Given the description of an element on the screen output the (x, y) to click on. 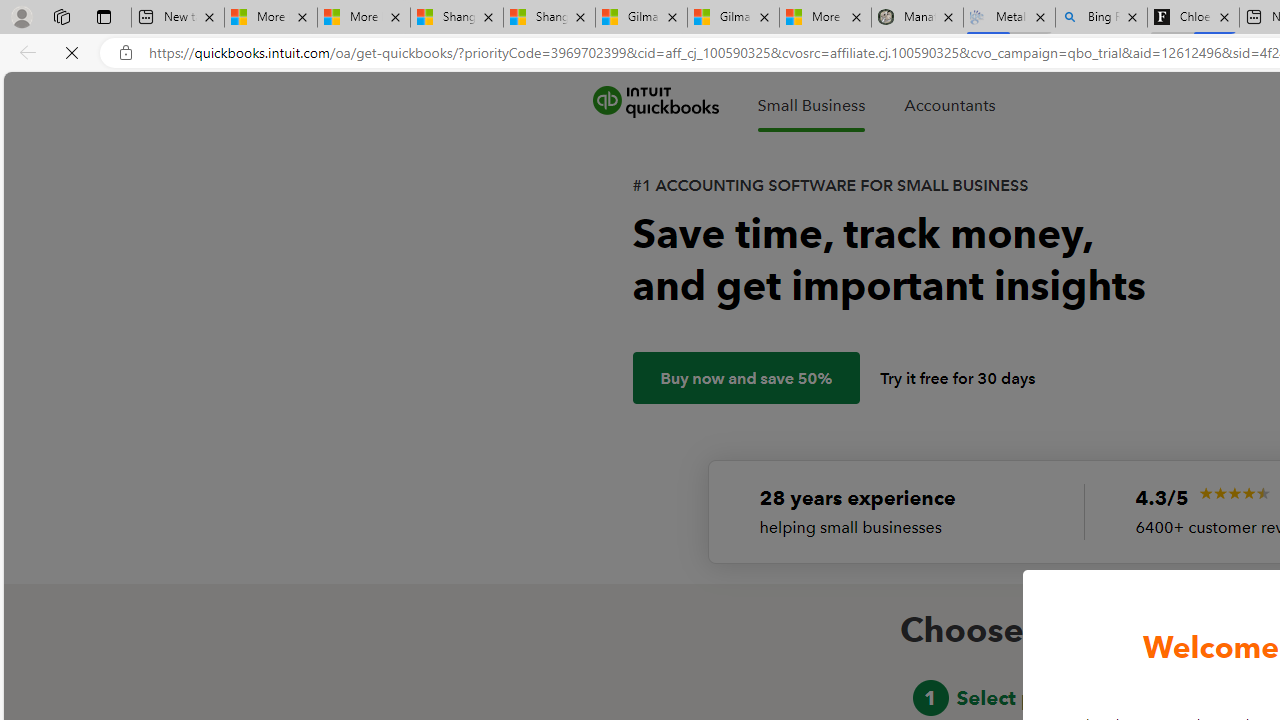
Accountants (949, 105)
quickbooks (655, 101)
Try it free for 30 days (957, 378)
Manatee Mortality Statistics | FWC (916, 17)
Bing Real Estate - Home sales and rental listings (1101, 17)
